Given the description of an element on the screen output the (x, y) to click on. 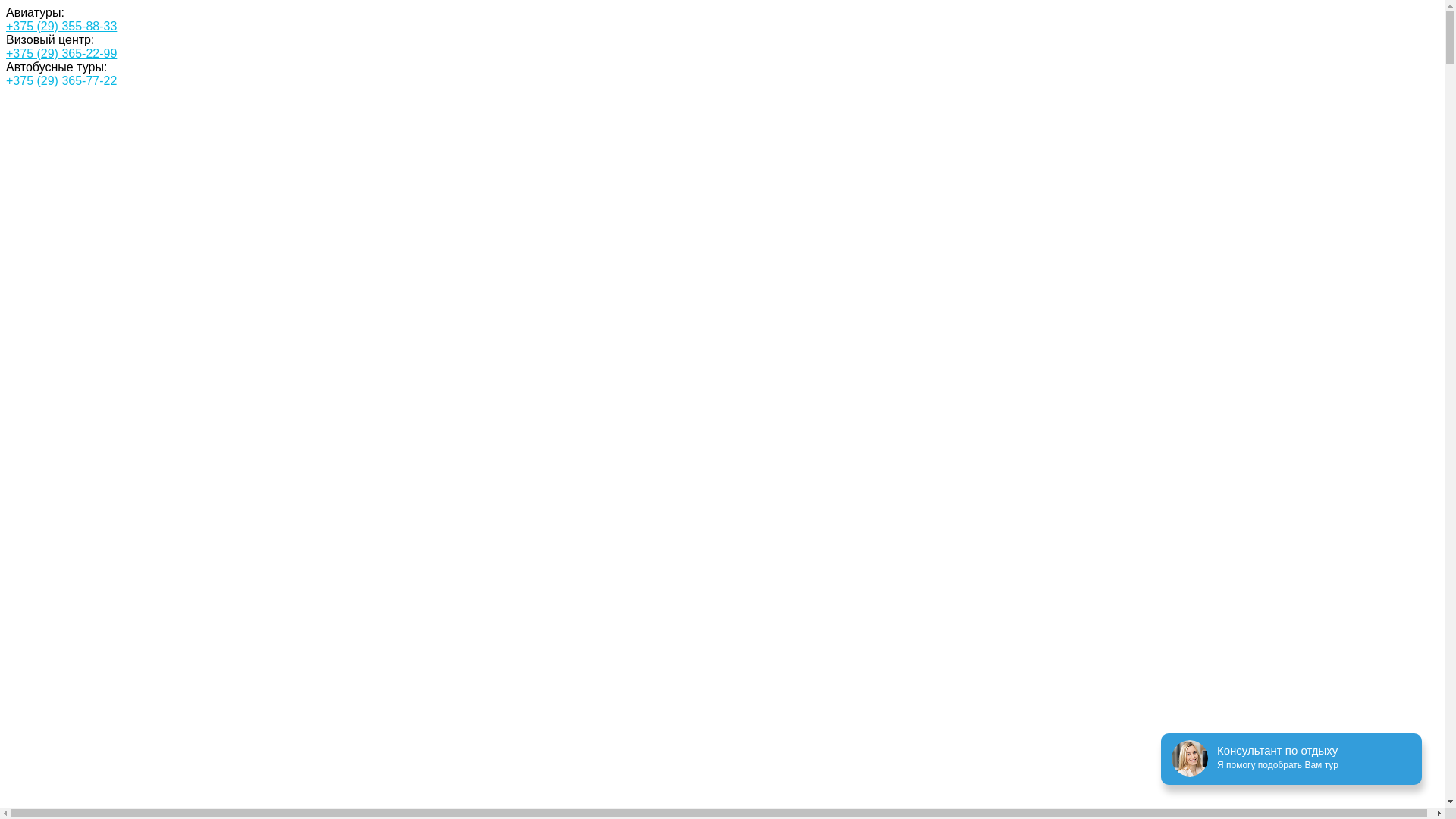
+375 (29) 365-77-22 Element type: text (61, 80)
+375 (29) 365-22-99 Element type: text (61, 53)
+375 (29) 355-88-33 Element type: text (61, 25)
